Given the description of an element on the screen output the (x, y) to click on. 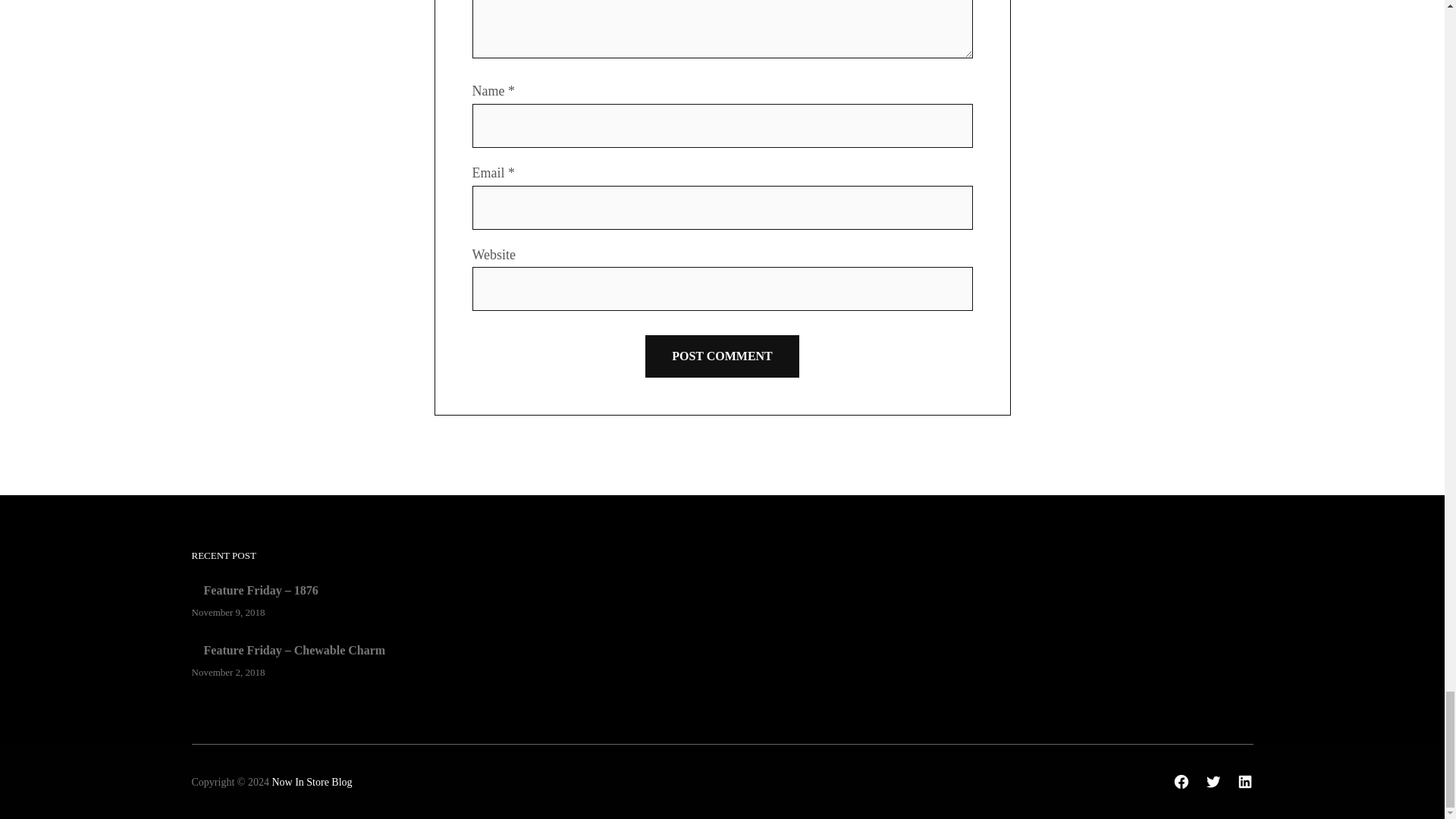
Twitter (1212, 781)
Post Comment (722, 355)
Now In Store Blog (311, 781)
Post Comment (722, 355)
LinkedIn (1244, 781)
Facebook (1180, 781)
